Given the description of an element on the screen output the (x, y) to click on. 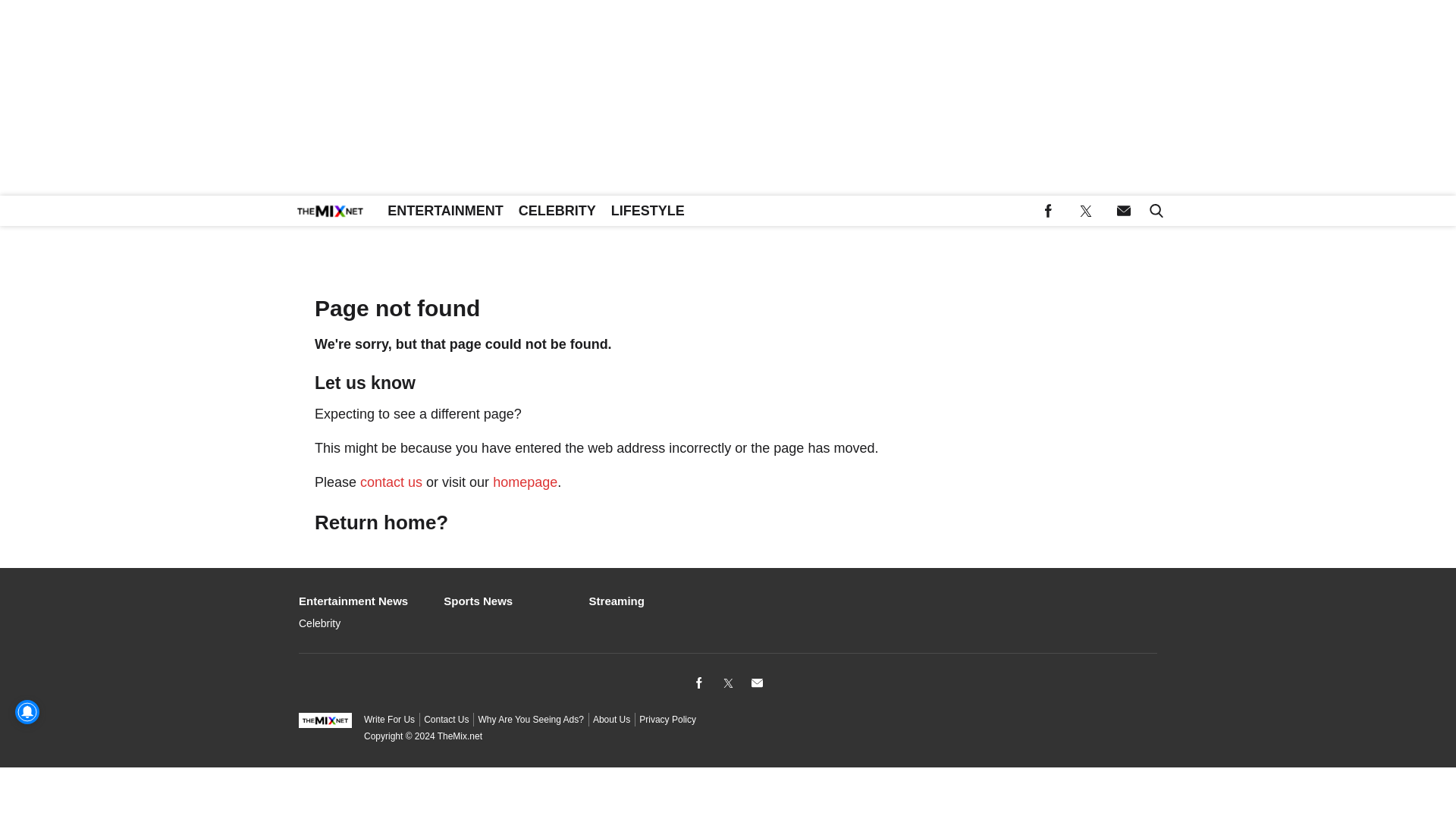
Why Are You Seeing Ads? (530, 719)
LIFESTYLE (648, 210)
Entertainment News (364, 600)
ENTERTAINMENT (445, 210)
homepage (525, 482)
contact us (390, 482)
Streaming (655, 600)
Write For Us (389, 719)
Follow us on Twitter (1086, 210)
Follow us on Facebook (1048, 210)
